Given the description of an element on the screen output the (x, y) to click on. 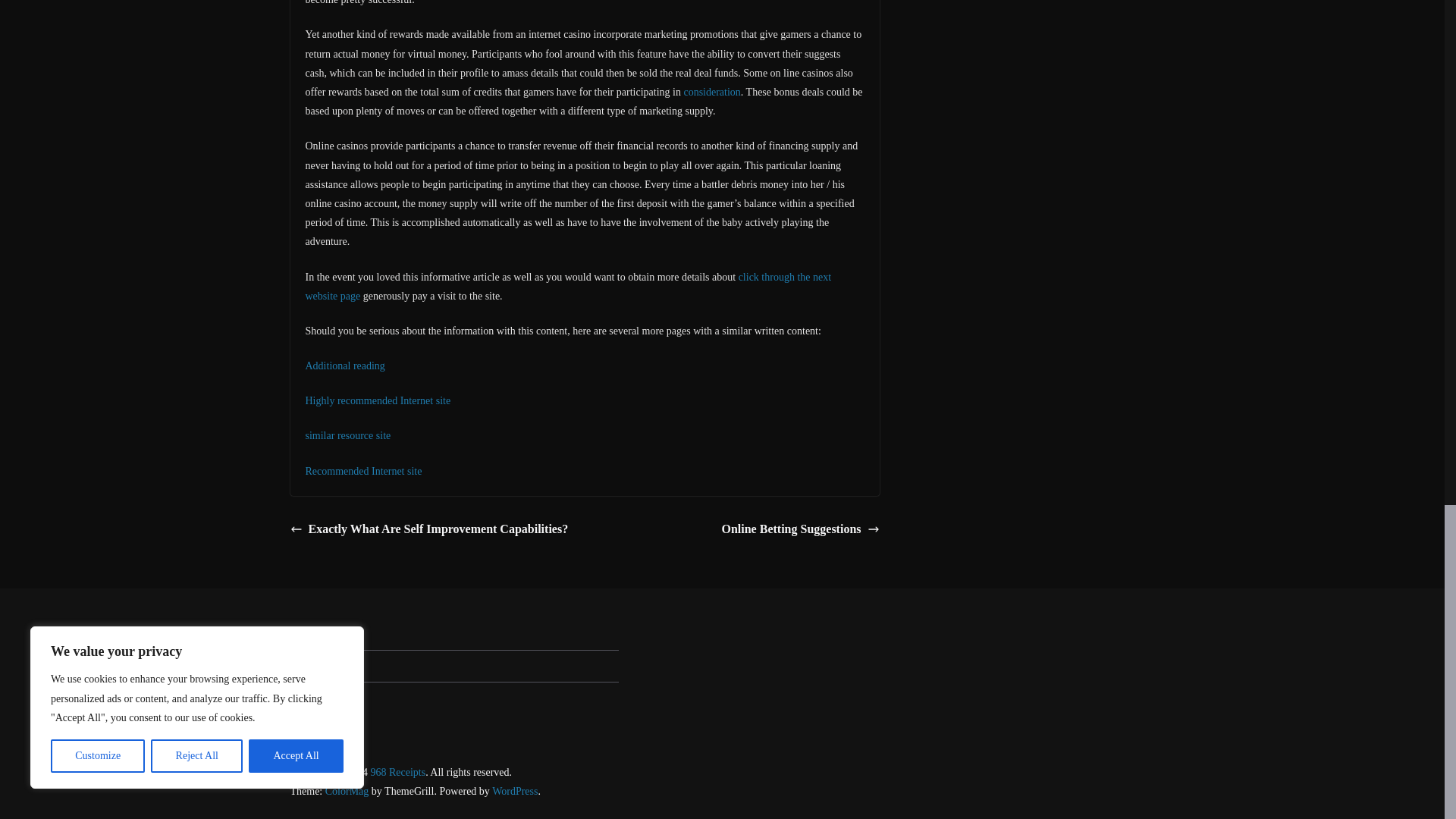
ColorMag (346, 790)
968 Receipts (397, 772)
Exactly What Are Self Improvement Capabilities? (428, 529)
WordPress (514, 790)
Highly recommended Internet site (376, 400)
Additional reading (344, 365)
click through the next website page (567, 286)
Online Betting Suggestions (799, 529)
consideration (710, 91)
similar resource site (347, 435)
